Given the description of an element on the screen output the (x, y) to click on. 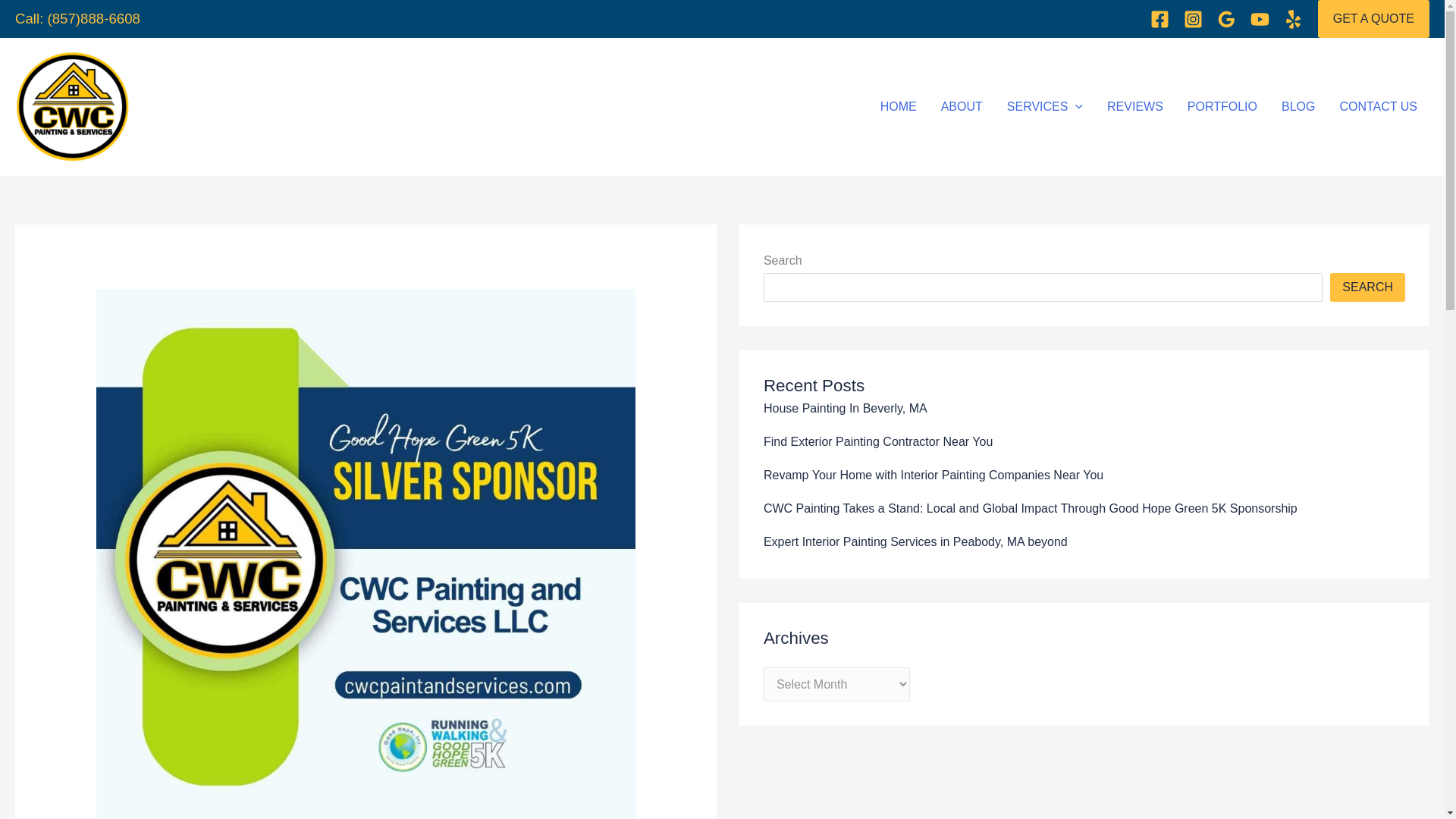
ABOUT (961, 106)
SEARCH (1367, 287)
SERVICES (1044, 106)
Revamp Your Home with Interior Painting Companies Near You (932, 474)
House Painting In Beverly, MA (844, 408)
HOME (897, 106)
Find Exterior Painting Contractor Near You (877, 440)
CONTACT US (1377, 106)
GET A QUOTE (1373, 18)
BLOG (1297, 106)
